Given the description of an element on the screen output the (x, y) to click on. 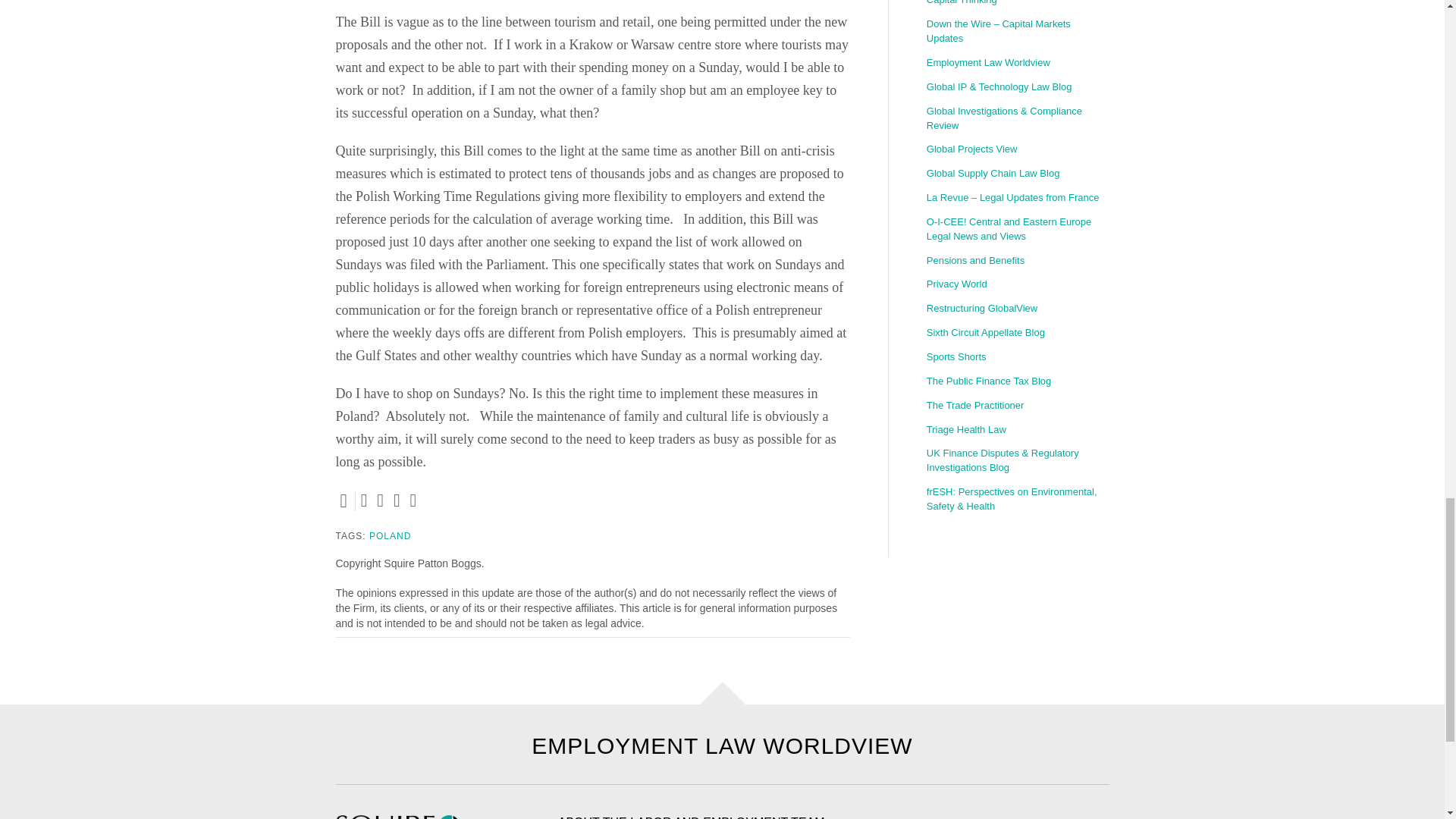
Employment Law Worldview (1017, 63)
POLAND (389, 535)
Capital Thinking (1017, 6)
